Given the description of an element on the screen output the (x, y) to click on. 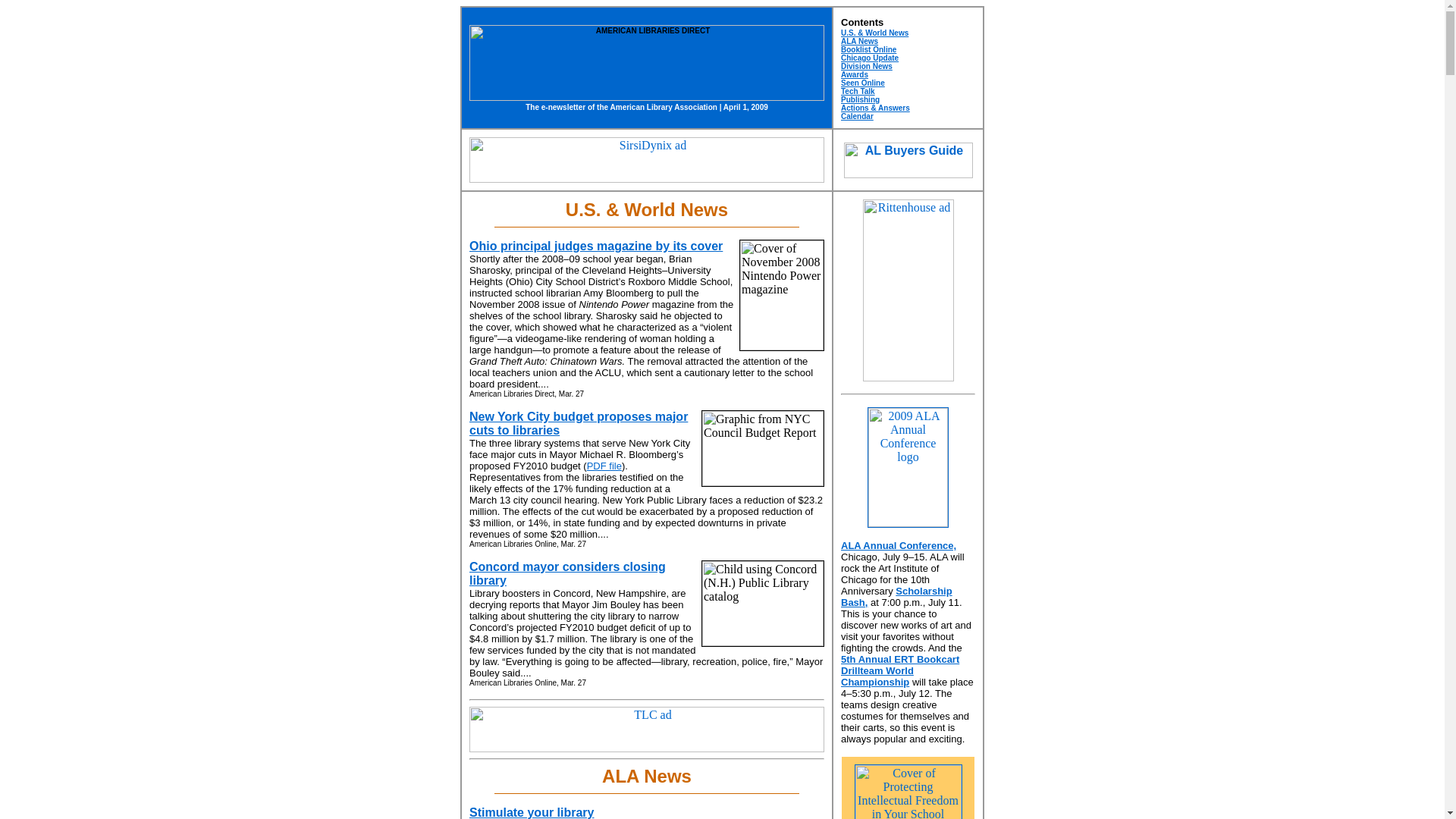
Graphic from NYC Council Budget Report (762, 448)
Tech Talk (858, 90)
AMERICAN LIBRARIES DIRECT (646, 61)
AL Buyers Guide (907, 160)
New York City budget proposes major cuts to libraries (577, 423)
ALA News (859, 40)
Concord mayor considers closing library (566, 573)
Seen Online (863, 82)
Ohio principal judges magazine by its cover (595, 245)
SirsiDynix ad (646, 159)
